Given the description of an element on the screen output the (x, y) to click on. 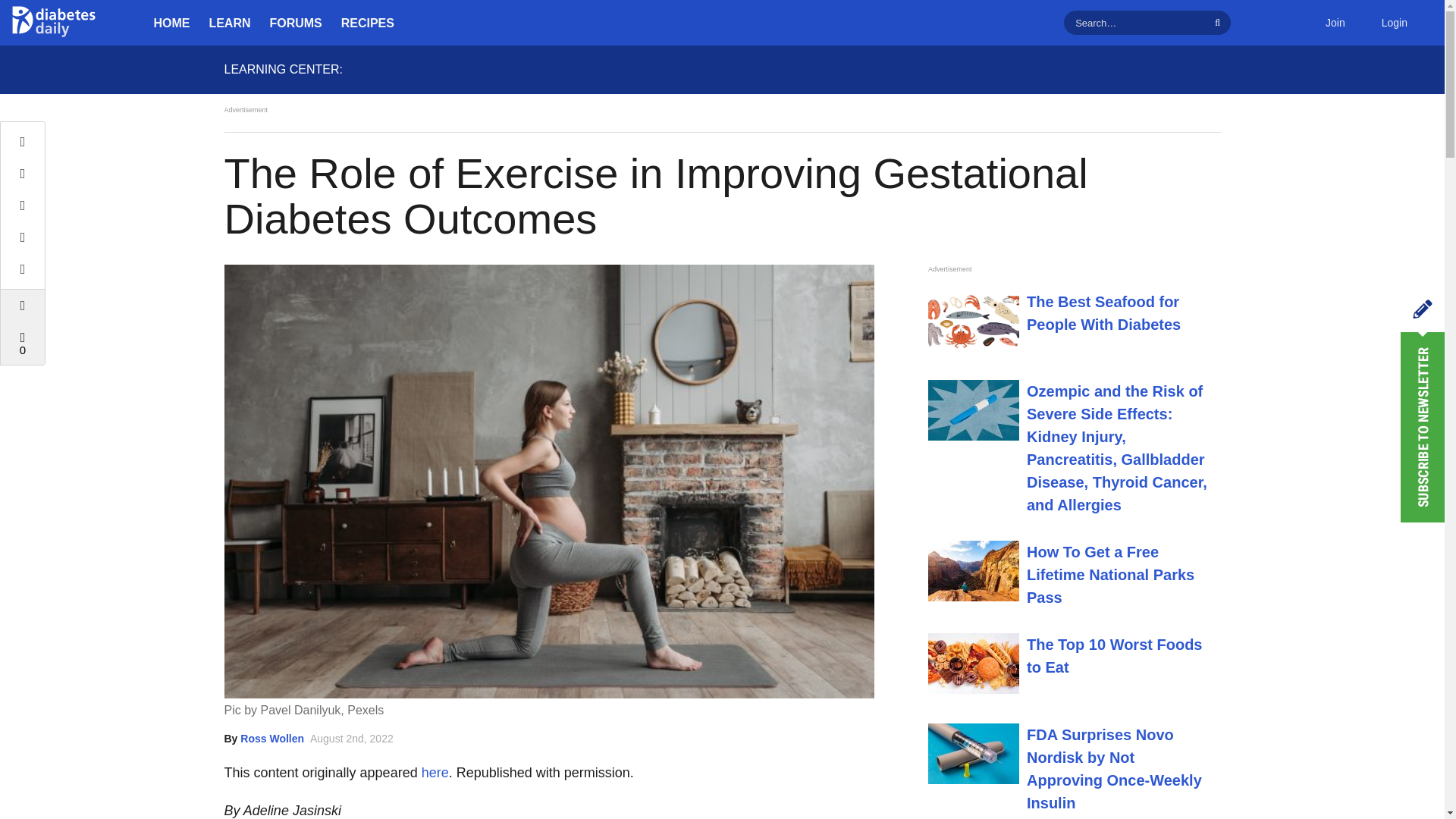
RECIPES (367, 22)
Login (1393, 22)
LEARN (229, 22)
HOME (171, 22)
Join (1334, 22)
FORUMS (295, 22)
